Given the description of an element on the screen output the (x, y) to click on. 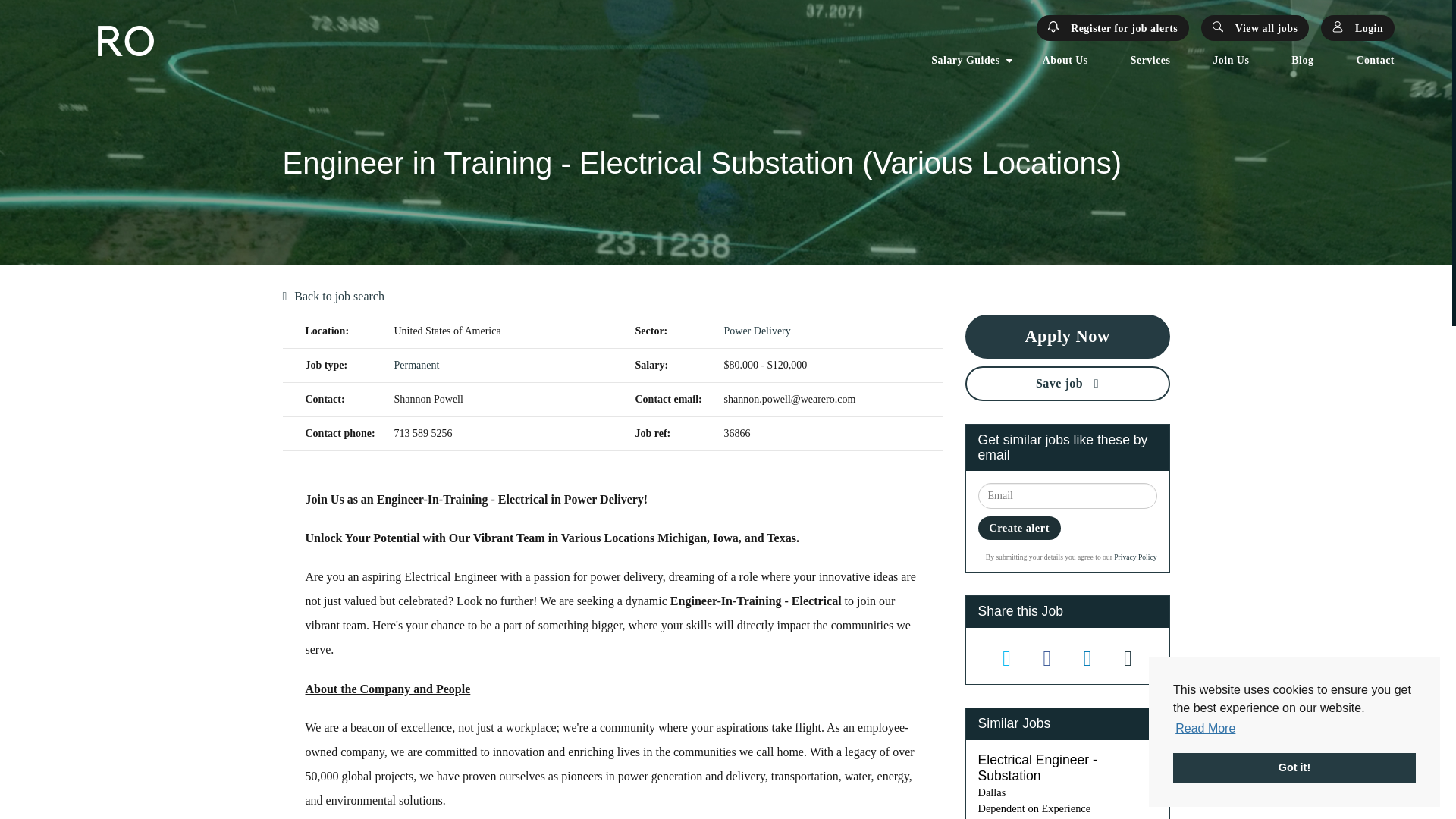
Join Us (1230, 60)
Salary Guides (964, 60)
RO Energy (125, 40)
Read More (1206, 728)
Power Delivery (756, 330)
Privacy Policy (1134, 556)
About Us (1064, 60)
Create alert (1019, 527)
Blog (1302, 60)
Services (1150, 60)
Save job (1066, 383)
Permanent (416, 365)
Apply Now (1066, 336)
Got it! (1294, 767)
